Given the description of an element on the screen output the (x, y) to click on. 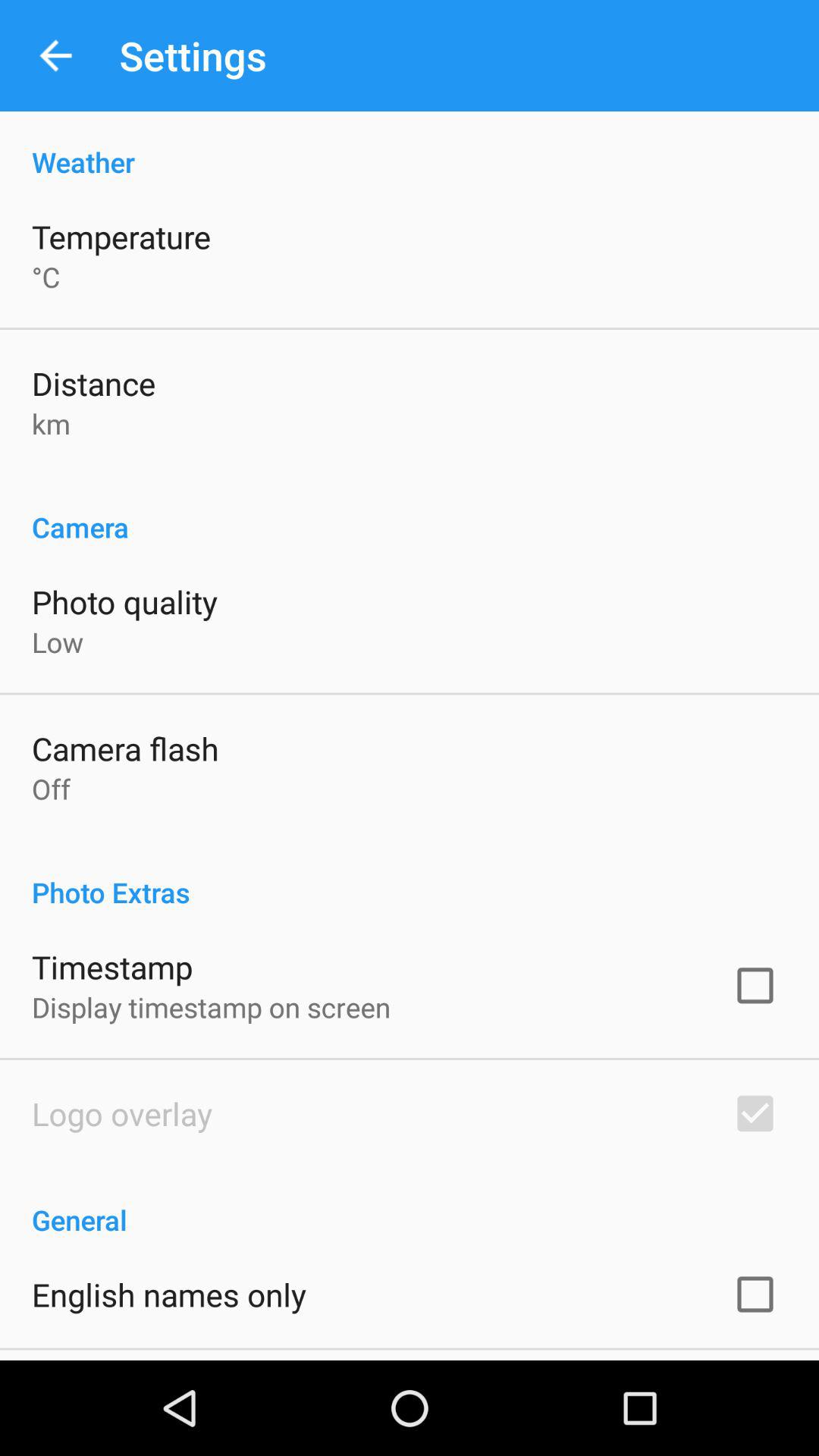
click on the box which is right hand side or logo overlay (755, 1113)
go to the checkbox beside timestamp (755, 985)
check the box beside english names only (755, 1294)
